Given the description of an element on the screen output the (x, y) to click on. 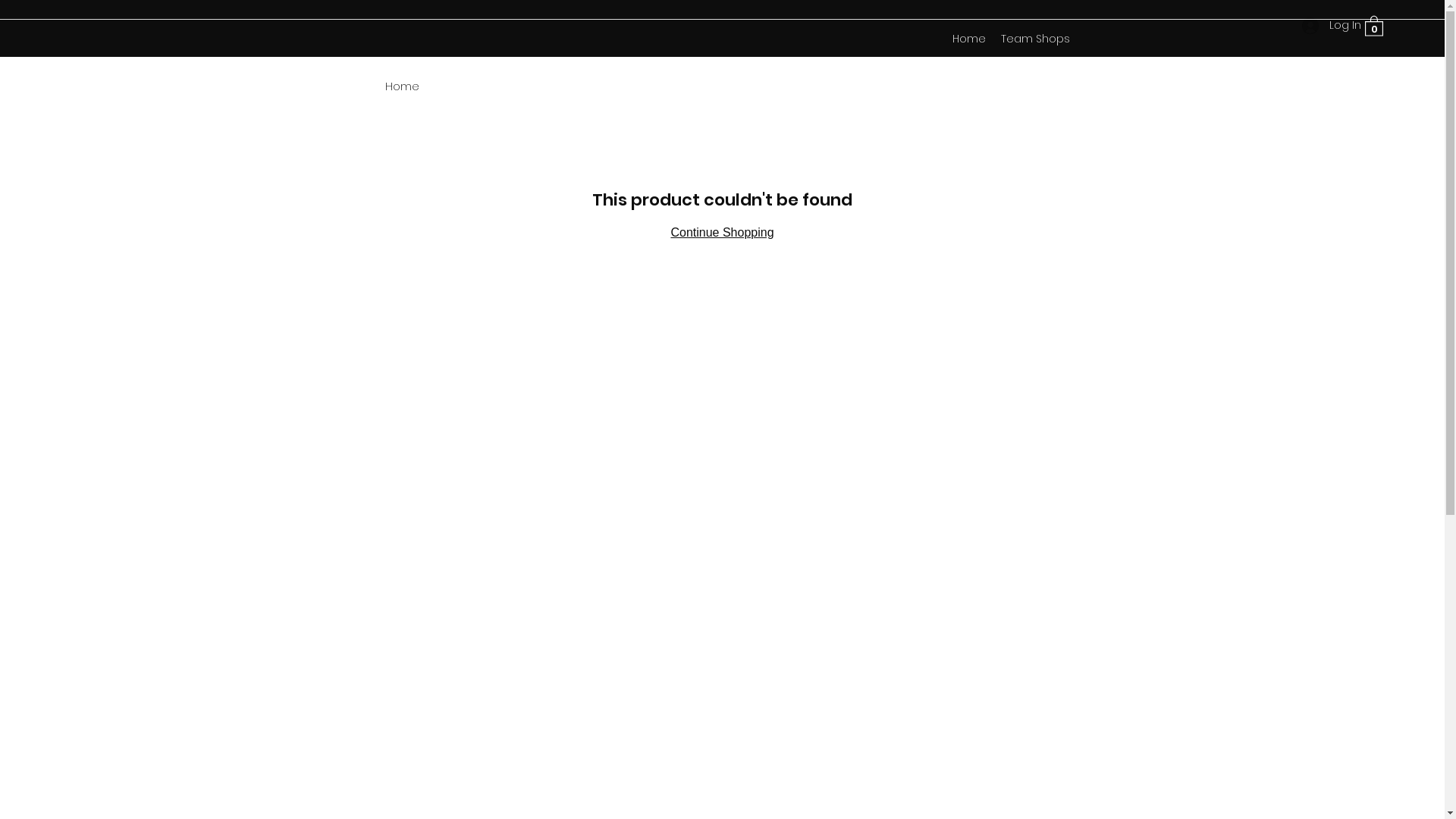
Home Element type: text (402, 86)
Team Shops Element type: text (1035, 38)
Log In Element type: text (1325, 25)
Continue Shopping Element type: text (721, 231)
0 Element type: text (1374, 25)
Home Element type: text (968, 38)
